Given the description of an element on the screen output the (x, y) to click on. 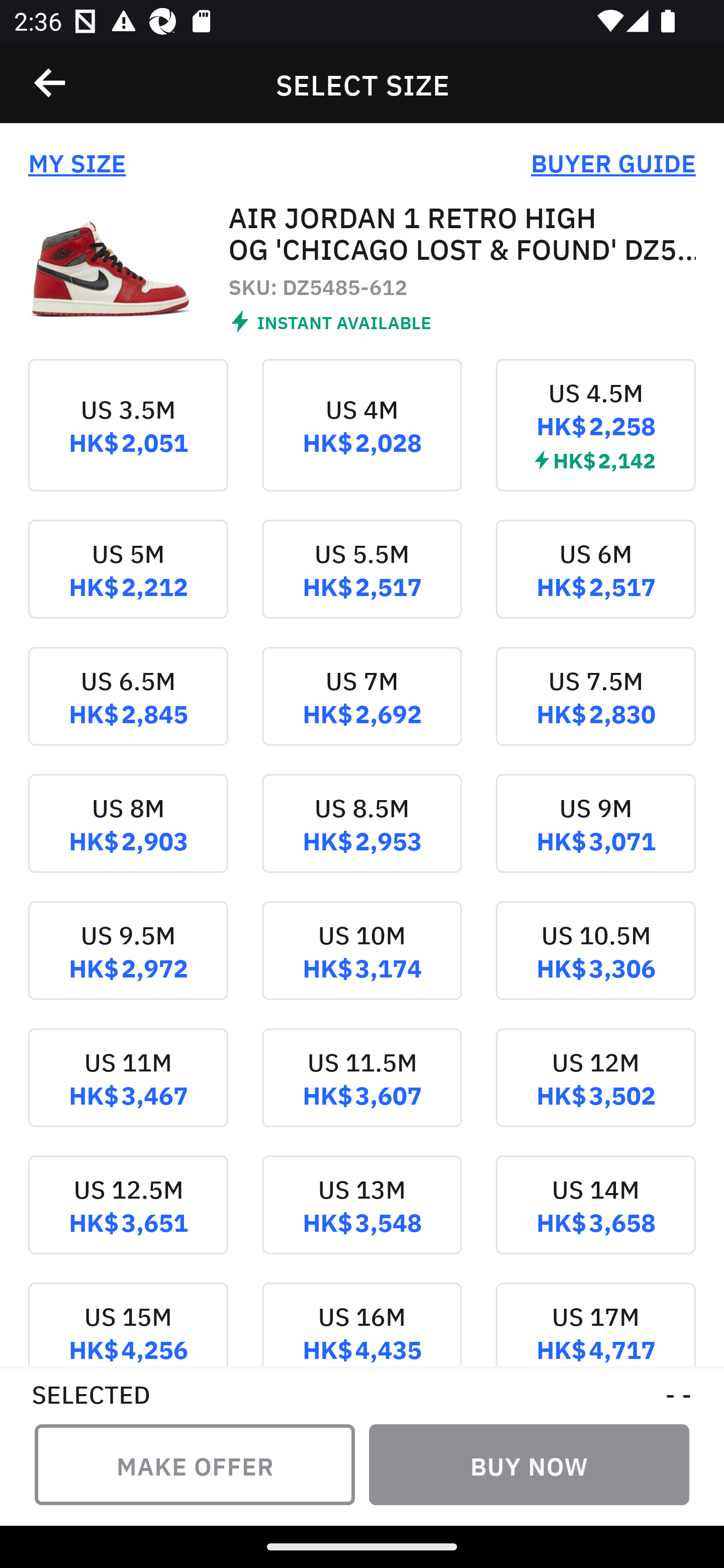
 (50, 83)
US 3.5M HK$ 2,051 (128, 439)
US 4M HK$ 2,028 (361, 439)
US 4.5M HK$ 2,258  HK$ 2,142 (595, 439)
US 5M HK$ 2,212 (128, 582)
US 5.5M HK$ 2,517 (361, 582)
US 6M HK$ 2,517 (595, 582)
US 6.5M HK$ 2,845 (128, 710)
US 7M HK$ 2,692 (361, 710)
US 7.5M HK$ 2,830 (595, 710)
US 8M HK$ 2,903 (128, 837)
US 8.5M HK$ 2,953 (361, 837)
US 9M HK$ 3,071 (595, 837)
US 9.5M HK$ 2,972 (128, 964)
US 10M HK$ 3,174 (361, 964)
US 10.5M HK$ 3,306 (595, 964)
US 11M HK$ 3,467 (128, 1091)
US 11.5M HK$ 3,607 (361, 1091)
US 12M HK$ 3,502 (595, 1091)
US 12.5M HK$ 3,651 (128, 1218)
US 13M HK$ 3,548 (361, 1218)
US 14M HK$ 3,658 (595, 1218)
US 15M HK$ 4,256 (128, 1323)
US 16M HK$ 4,435 (361, 1323)
US 17M HK$ 4,717 (595, 1323)
MAKE OFFER (194, 1464)
BUY NOW (529, 1464)
